Given the description of an element on the screen output the (x, y) to click on. 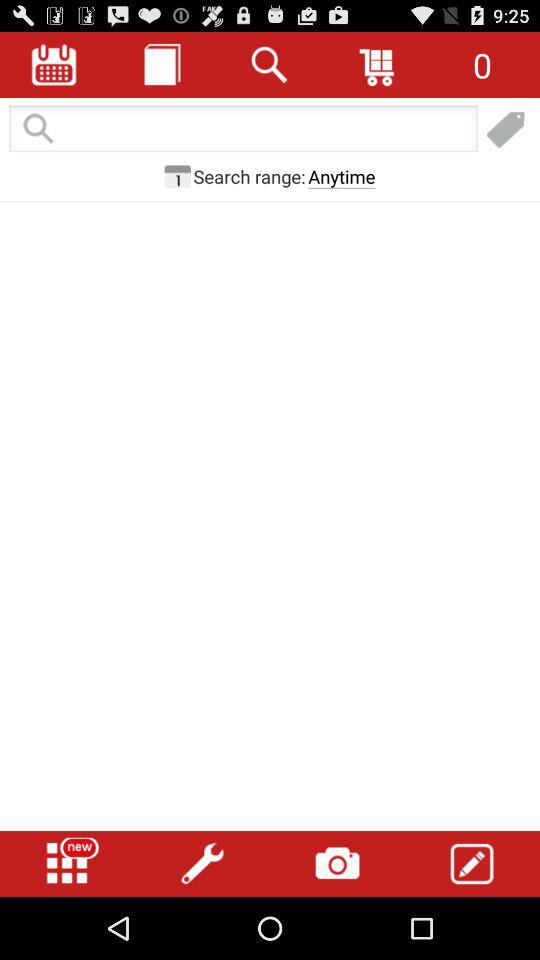
show new events (67, 863)
